Given the description of an element on the screen output the (x, y) to click on. 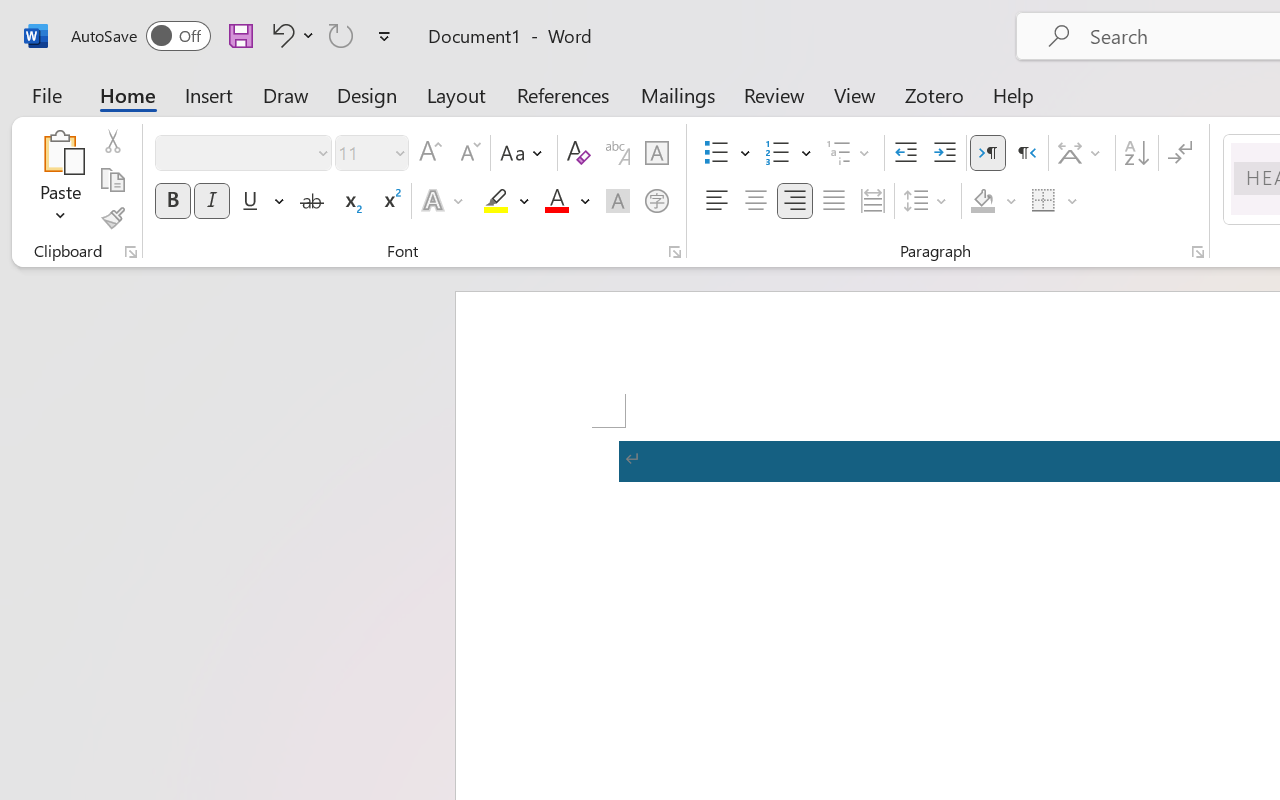
Font Color RGB(255, 0, 0) (556, 201)
Right-to-Left (1026, 153)
Shading No Color (982, 201)
